Given the description of an element on the screen output the (x, y) to click on. 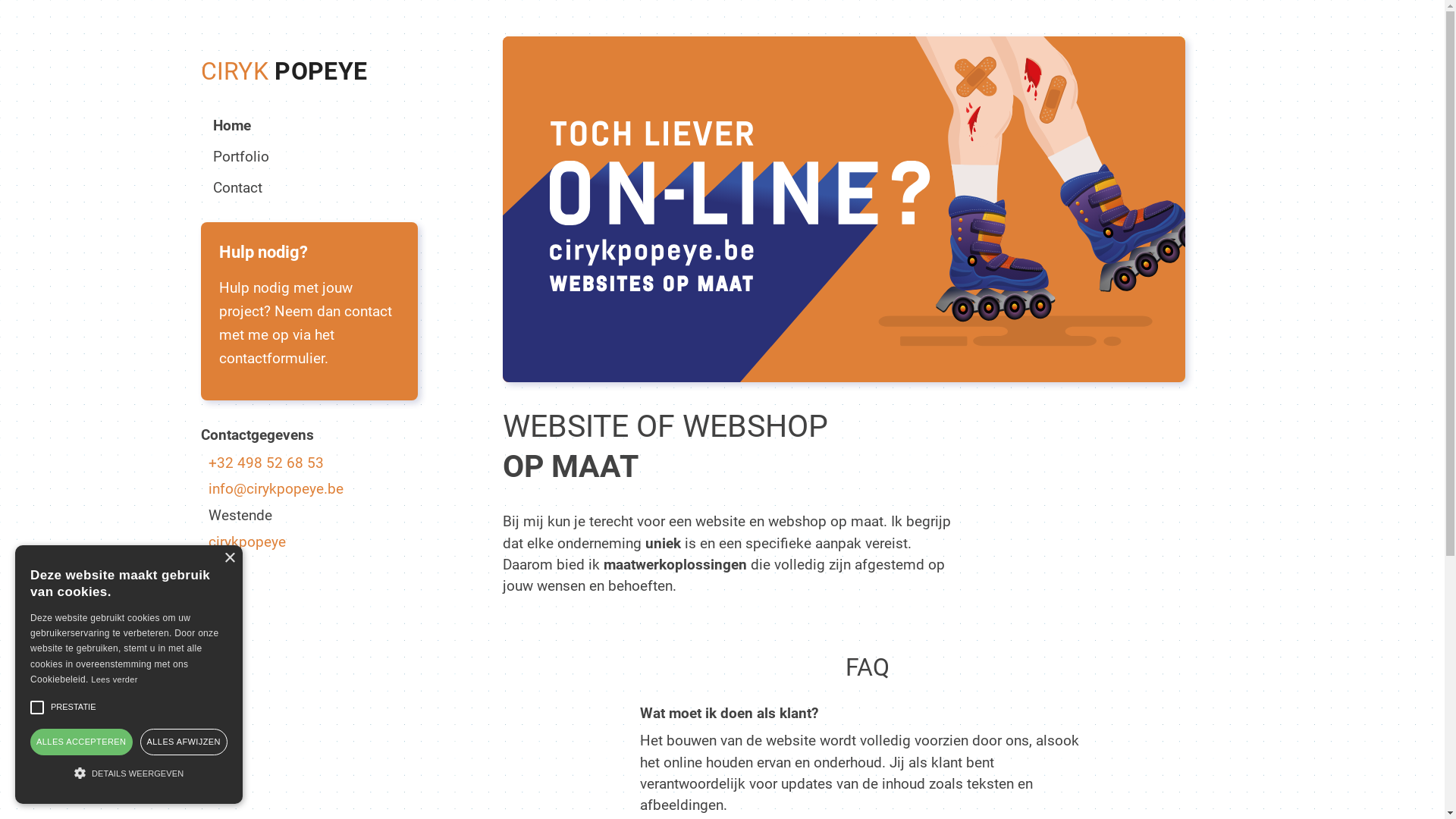
CIRYK POPEYE Element type: text (283, 70)
Lees verder Element type: text (114, 679)
  info@cirykpopeye.be Element type: text (308, 488)
Contact Element type: text (236, 187)
Home Element type: text (231, 125)
Portfolio Element type: text (240, 156)
  cirykpopeye Element type: text (308, 541)
  +32 498 52 68 53 Element type: text (308, 462)
